Given the description of an element on the screen output the (x, y) to click on. 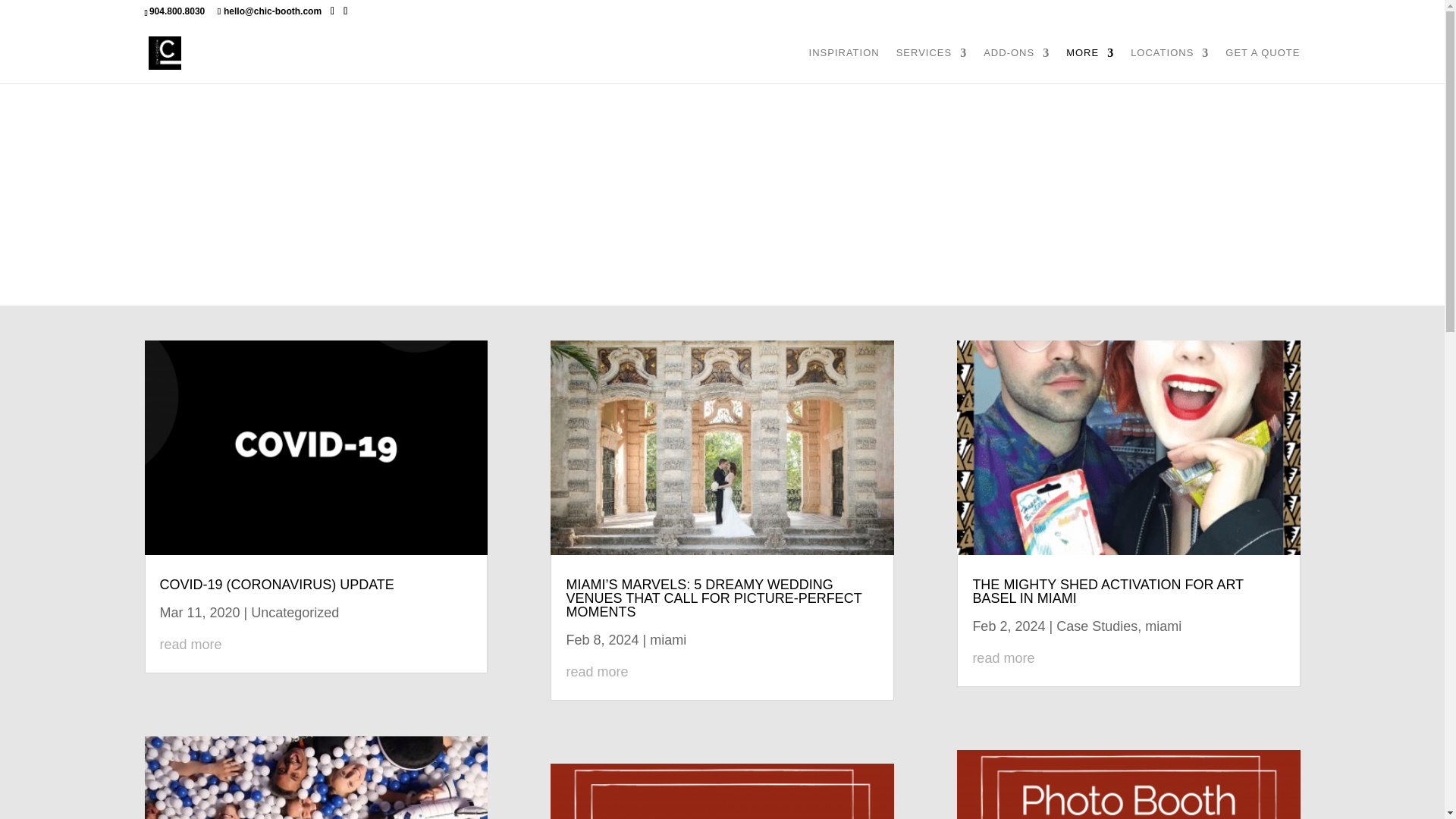
LOCATIONS (1169, 65)
SERVICES (932, 65)
INSPIRATION (844, 65)
ADD-ONS (1016, 65)
MORE (1089, 65)
